Given the description of an element on the screen output the (x, y) to click on. 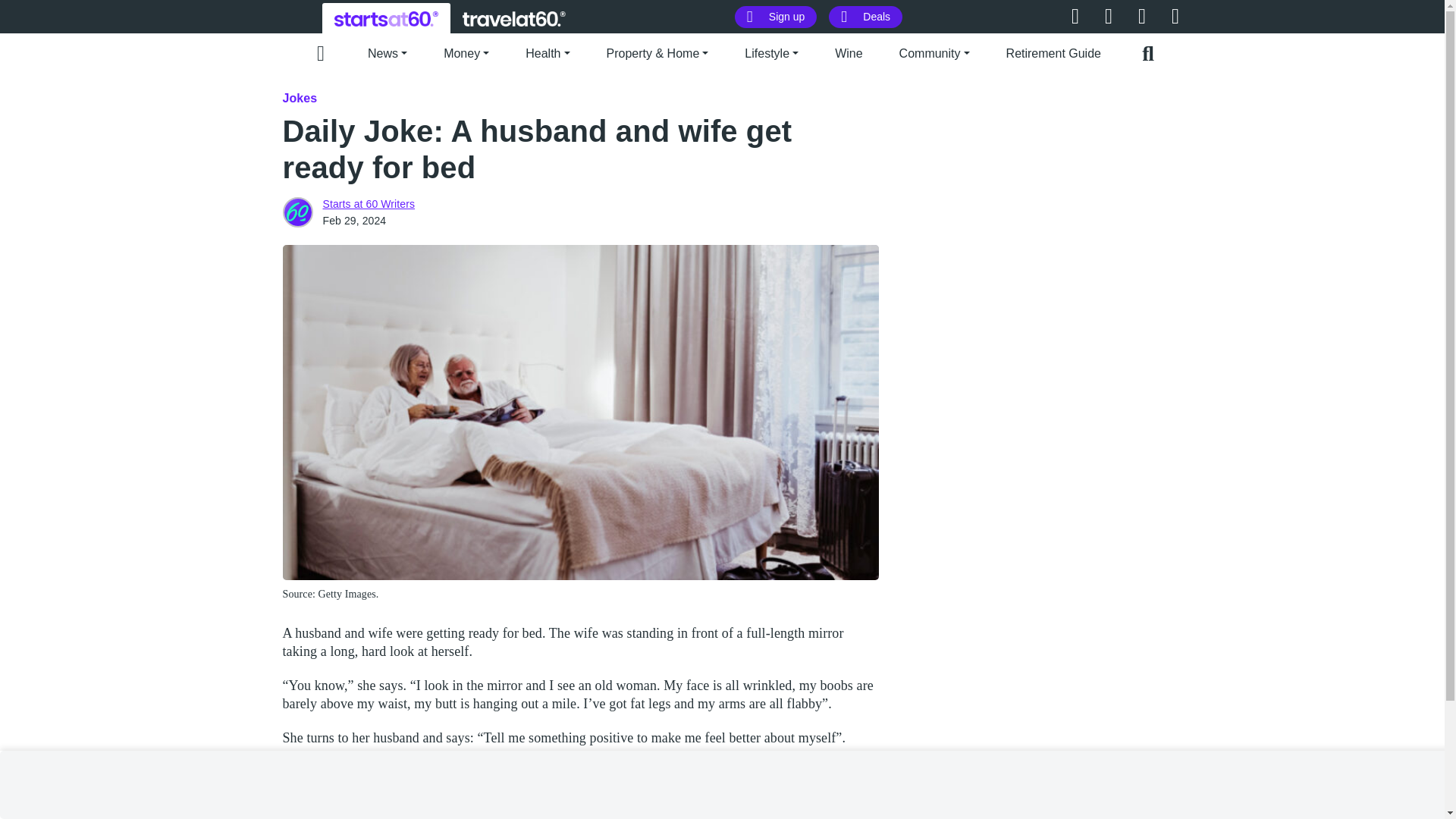
Hi !  (514, 18)
Hi !  (386, 18)
Deals (865, 16)
Jokes (301, 812)
Starts at 60 Writers (368, 203)
Share on Facebook (819, 816)
Share via email (796, 816)
Money (466, 51)
News (387, 51)
Starts at 60 Writers (297, 212)
Share on Twitter (844, 816)
Lifestyle (355, 812)
Share on Pinterest (868, 816)
Health (547, 51)
Jokes (299, 97)
